Given the description of an element on the screen output the (x, y) to click on. 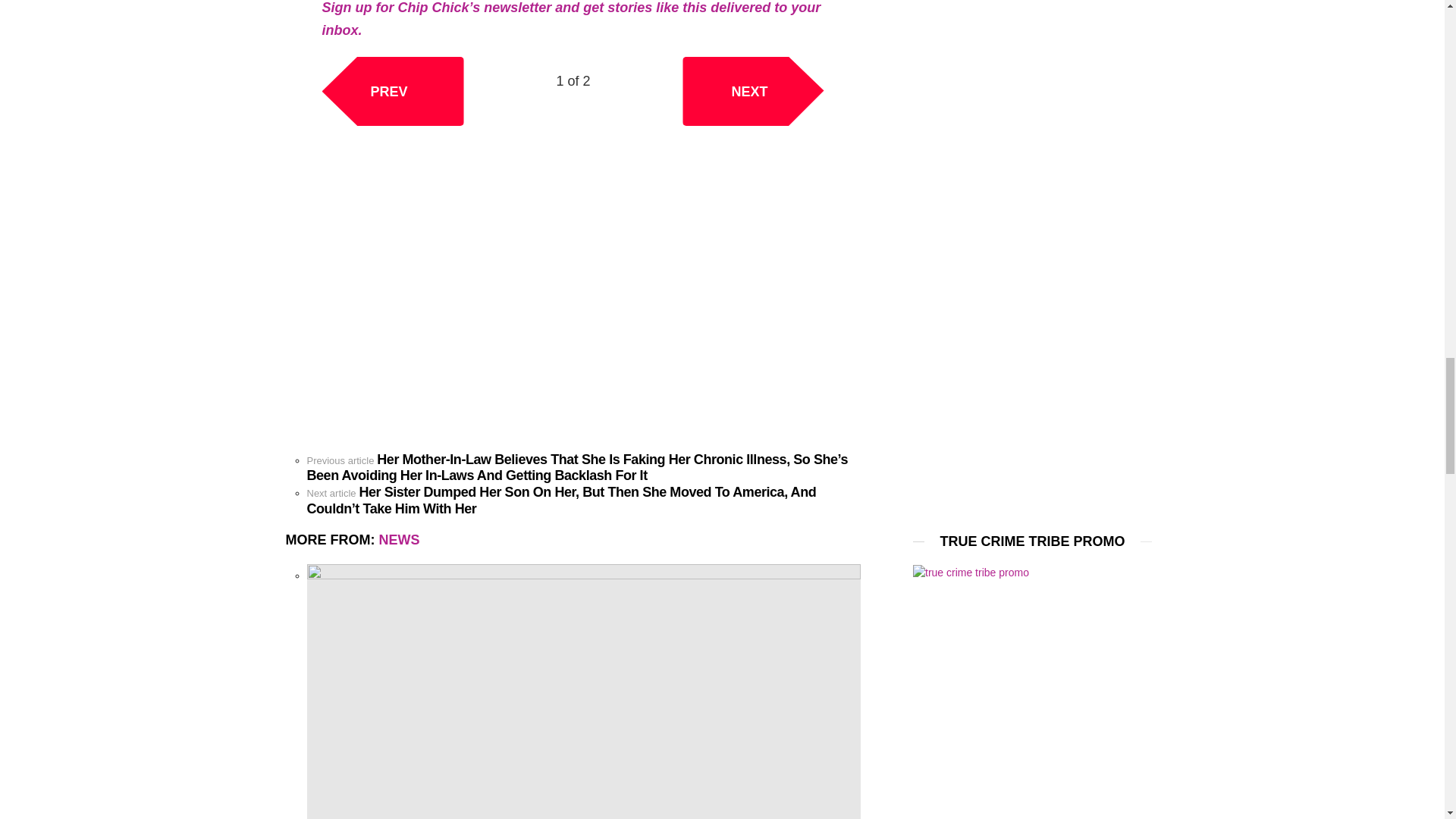
PREV (392, 91)
NEXT (753, 91)
